Given the description of an element on the screen output the (x, y) to click on. 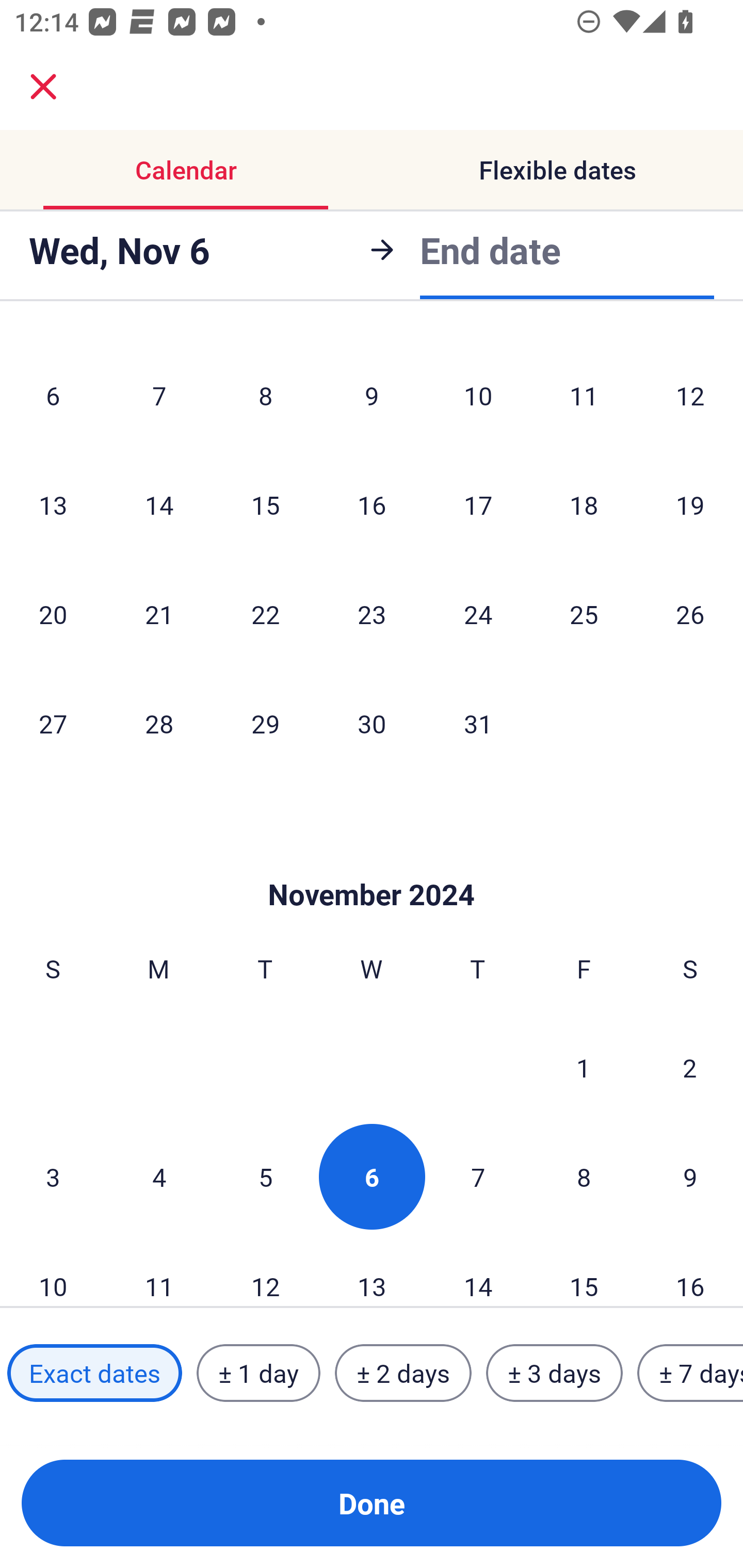
close. (43, 86)
Flexible dates (557, 170)
End date (489, 246)
6 Sunday, October 6, 2024 (53, 394)
7 Monday, October 7, 2024 (159, 394)
8 Tuesday, October 8, 2024 (265, 394)
9 Wednesday, October 9, 2024 (371, 394)
10 Thursday, October 10, 2024 (477, 394)
11 Friday, October 11, 2024 (584, 394)
12 Saturday, October 12, 2024 (690, 394)
13 Sunday, October 13, 2024 (53, 504)
14 Monday, October 14, 2024 (159, 504)
15 Tuesday, October 15, 2024 (265, 504)
16 Wednesday, October 16, 2024 (371, 504)
17 Thursday, October 17, 2024 (477, 504)
18 Friday, October 18, 2024 (584, 504)
19 Saturday, October 19, 2024 (690, 504)
20 Sunday, October 20, 2024 (53, 613)
21 Monday, October 21, 2024 (159, 613)
22 Tuesday, October 22, 2024 (265, 613)
23 Wednesday, October 23, 2024 (371, 613)
24 Thursday, October 24, 2024 (477, 613)
25 Friday, October 25, 2024 (584, 613)
26 Saturday, October 26, 2024 (690, 613)
27 Sunday, October 27, 2024 (53, 723)
28 Monday, October 28, 2024 (159, 723)
29 Tuesday, October 29, 2024 (265, 723)
30 Wednesday, October 30, 2024 (371, 723)
31 Thursday, October 31, 2024 (477, 723)
Skip to Done (371, 863)
1 Friday, November 1, 2024 (583, 1066)
2 Saturday, November 2, 2024 (689, 1066)
3 Sunday, November 3, 2024 (53, 1176)
4 Monday, November 4, 2024 (159, 1176)
5 Tuesday, November 5, 2024 (265, 1176)
7 Thursday, November 7, 2024 (477, 1176)
8 Friday, November 8, 2024 (584, 1176)
9 Saturday, November 9, 2024 (690, 1176)
10 Sunday, November 10, 2024 (53, 1270)
11 Monday, November 11, 2024 (159, 1270)
12 Tuesday, November 12, 2024 (265, 1270)
13 Wednesday, November 13, 2024 (371, 1270)
14 Thursday, November 14, 2024 (477, 1270)
15 Friday, November 15, 2024 (584, 1270)
16 Saturday, November 16, 2024 (690, 1270)
Exact dates (94, 1372)
± 1 day (258, 1372)
± 2 days (403, 1372)
± 3 days (553, 1372)
± 7 days (690, 1372)
